Given the description of an element on the screen output the (x, y) to click on. 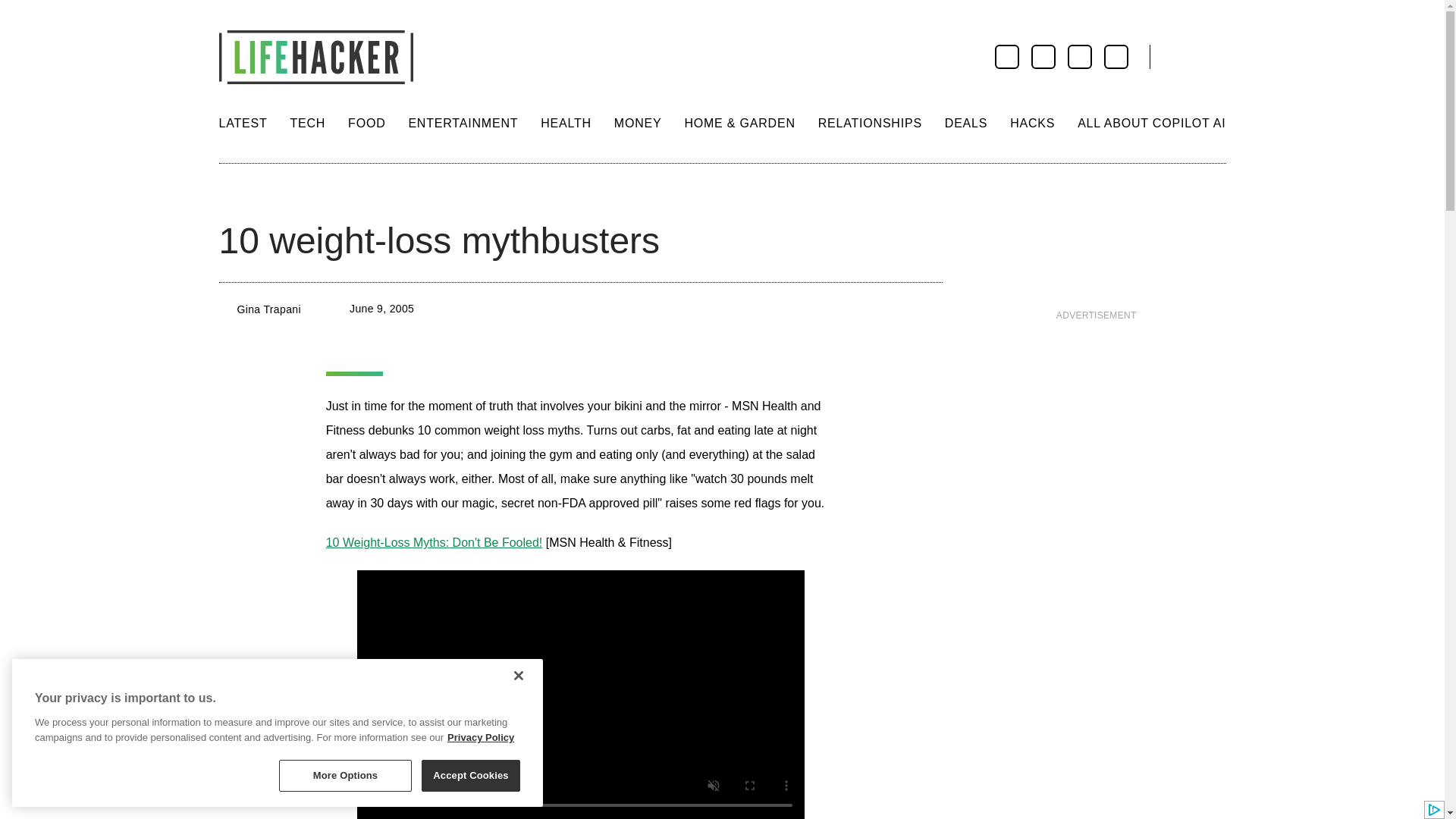
DEALS (965, 123)
HEALTH (565, 123)
MONEY (638, 123)
RELATIONSHIPS (869, 123)
ENTERTAINMENT (462, 123)
HACKS (1032, 123)
ALL ABOUT COPILOT AI (1151, 123)
FOOD (366, 123)
Social Share (232, 193)
TECH (306, 123)
LATEST (242, 123)
